Given the description of an element on the screen output the (x, y) to click on. 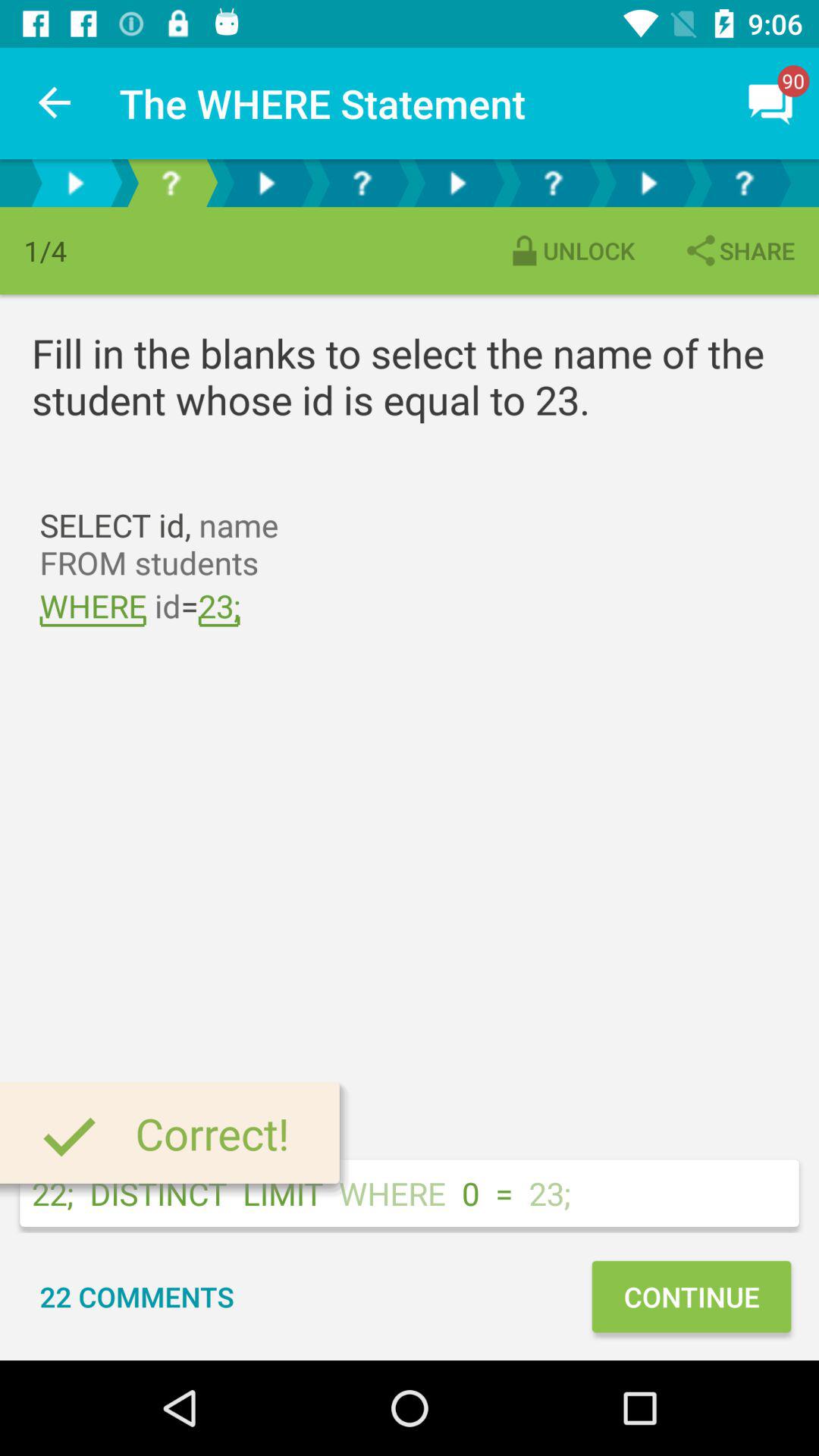
swipe until share icon (738, 250)
